Given the description of an element on the screen output the (x, y) to click on. 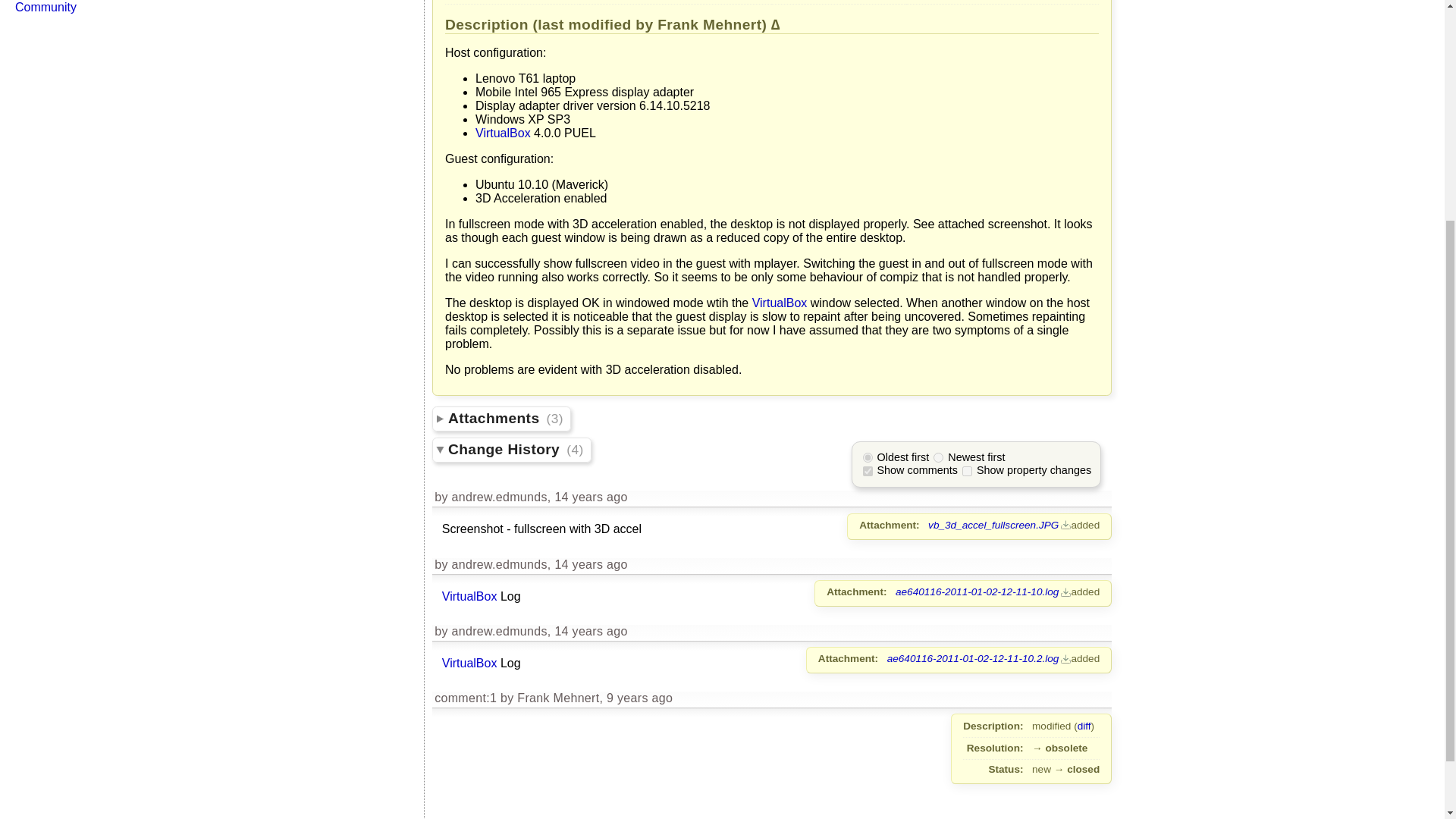
on (867, 470)
VirtualBox (503, 132)
on (967, 470)
newest (938, 457)
oldest (867, 457)
Community (45, 6)
VirtualBox (780, 302)
